Given the description of an element on the screen output the (x, y) to click on. 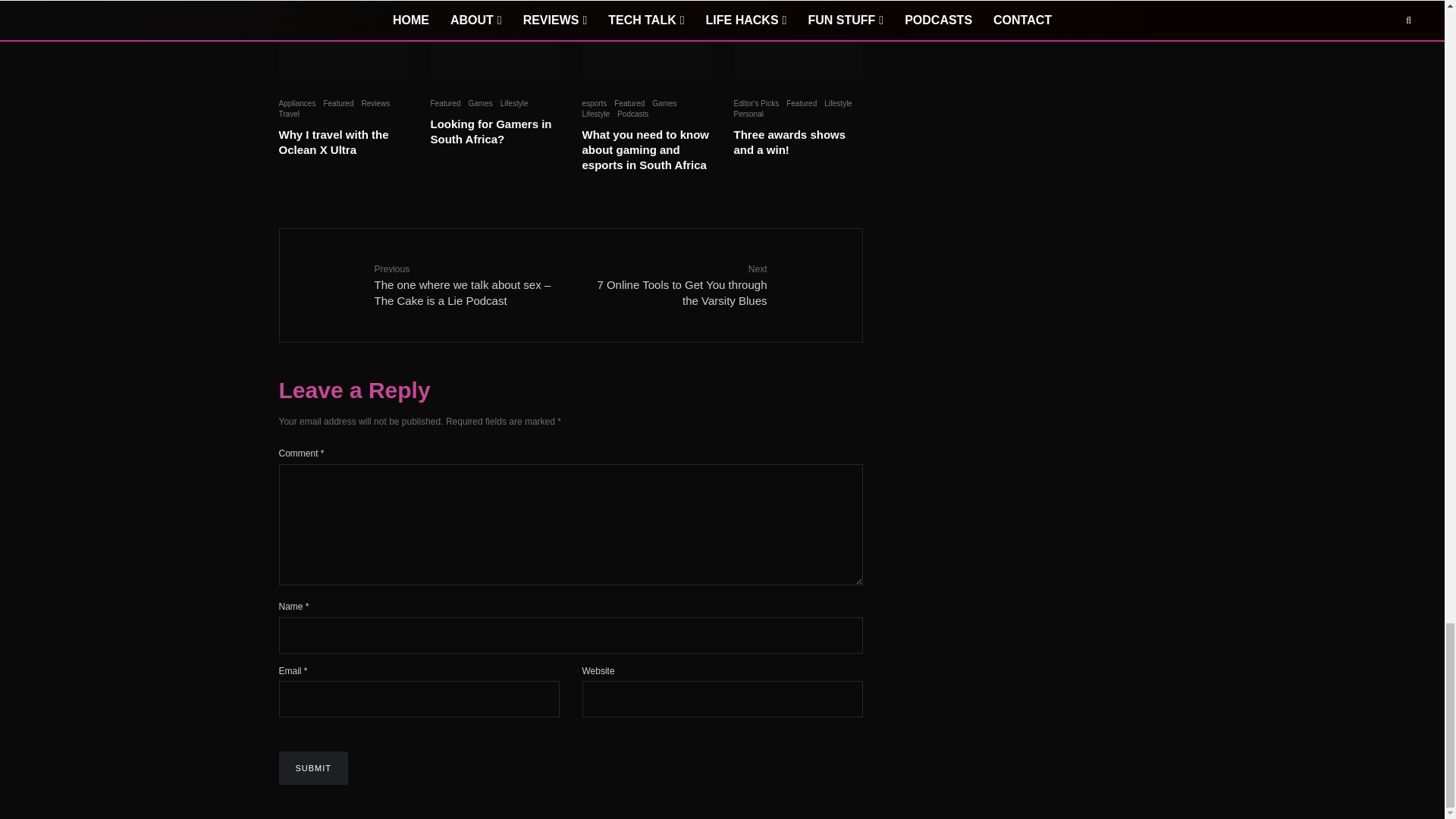
Submit (314, 767)
